Given the description of an element on the screen output the (x, y) to click on. 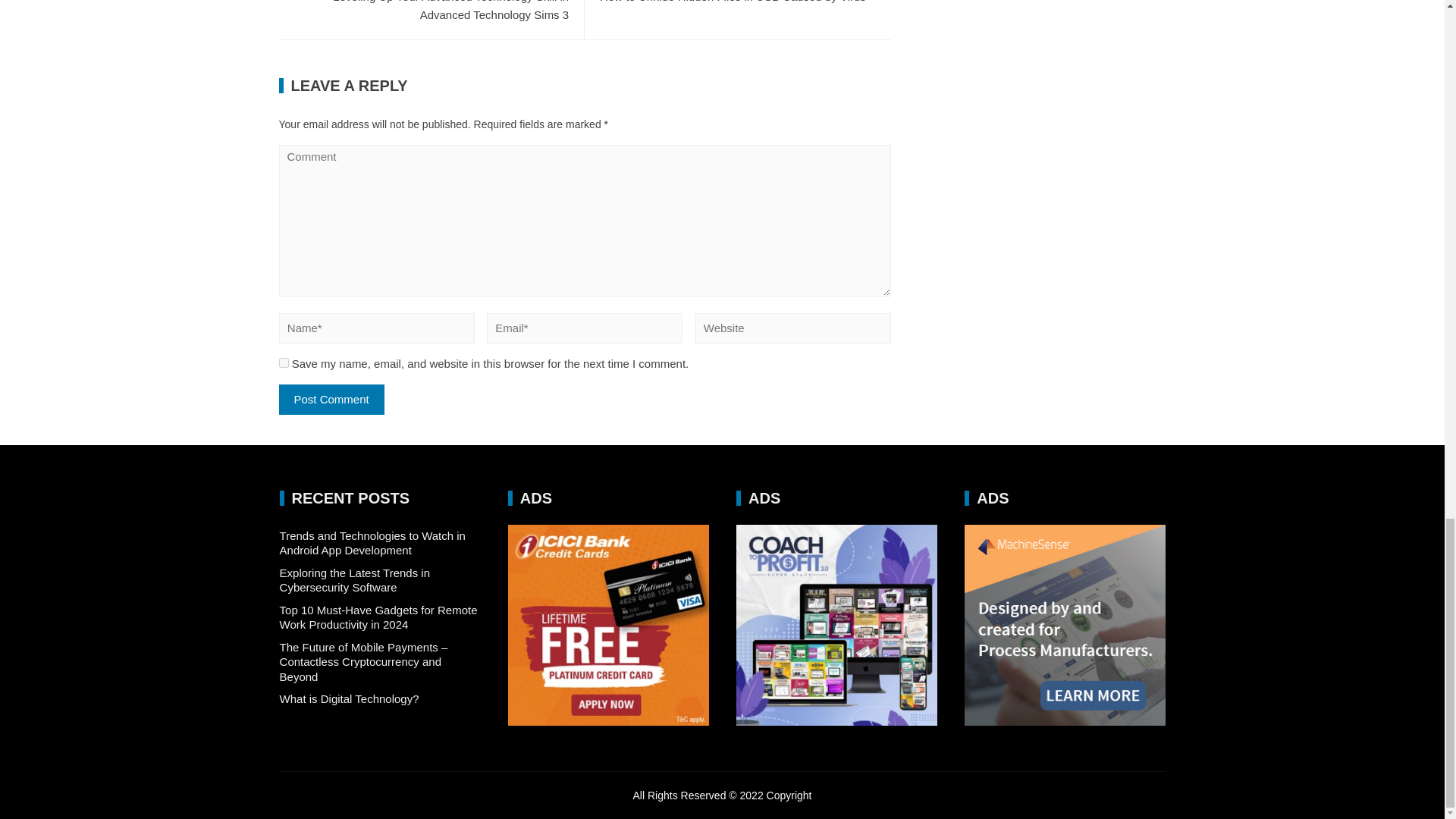
Post Comment (331, 399)
yes (283, 362)
Post Comment (737, 1)
